Given the description of an element on the screen output the (x, y) to click on. 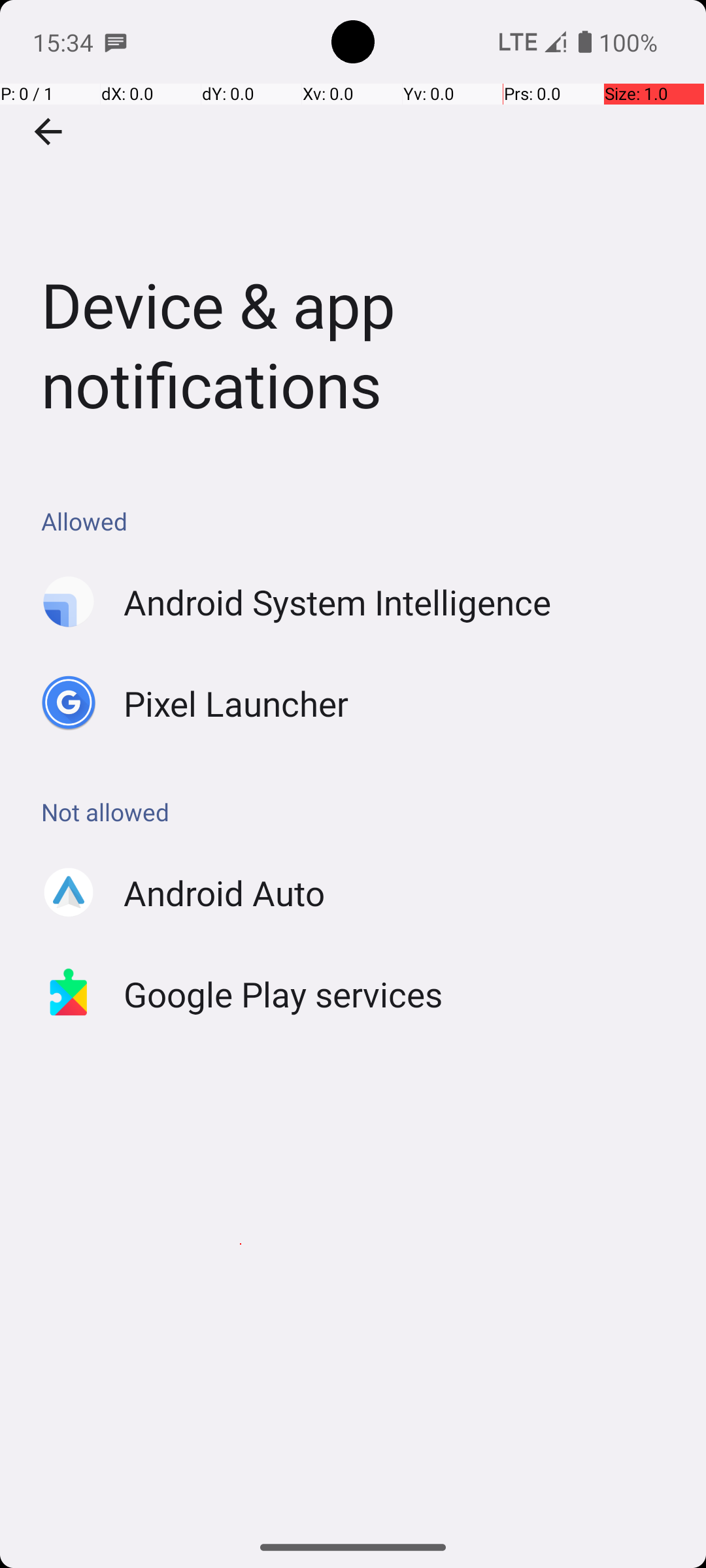
Allowed Element type: android.widget.TextView (359, 520)
Android System Intelligence Element type: android.widget.TextView (337, 601)
Pixel Launcher Element type: android.widget.TextView (236, 703)
Not allowed Element type: android.widget.TextView (359, 811)
Google Play services Element type: android.widget.TextView (283, 993)
